Given the description of an element on the screen output the (x, y) to click on. 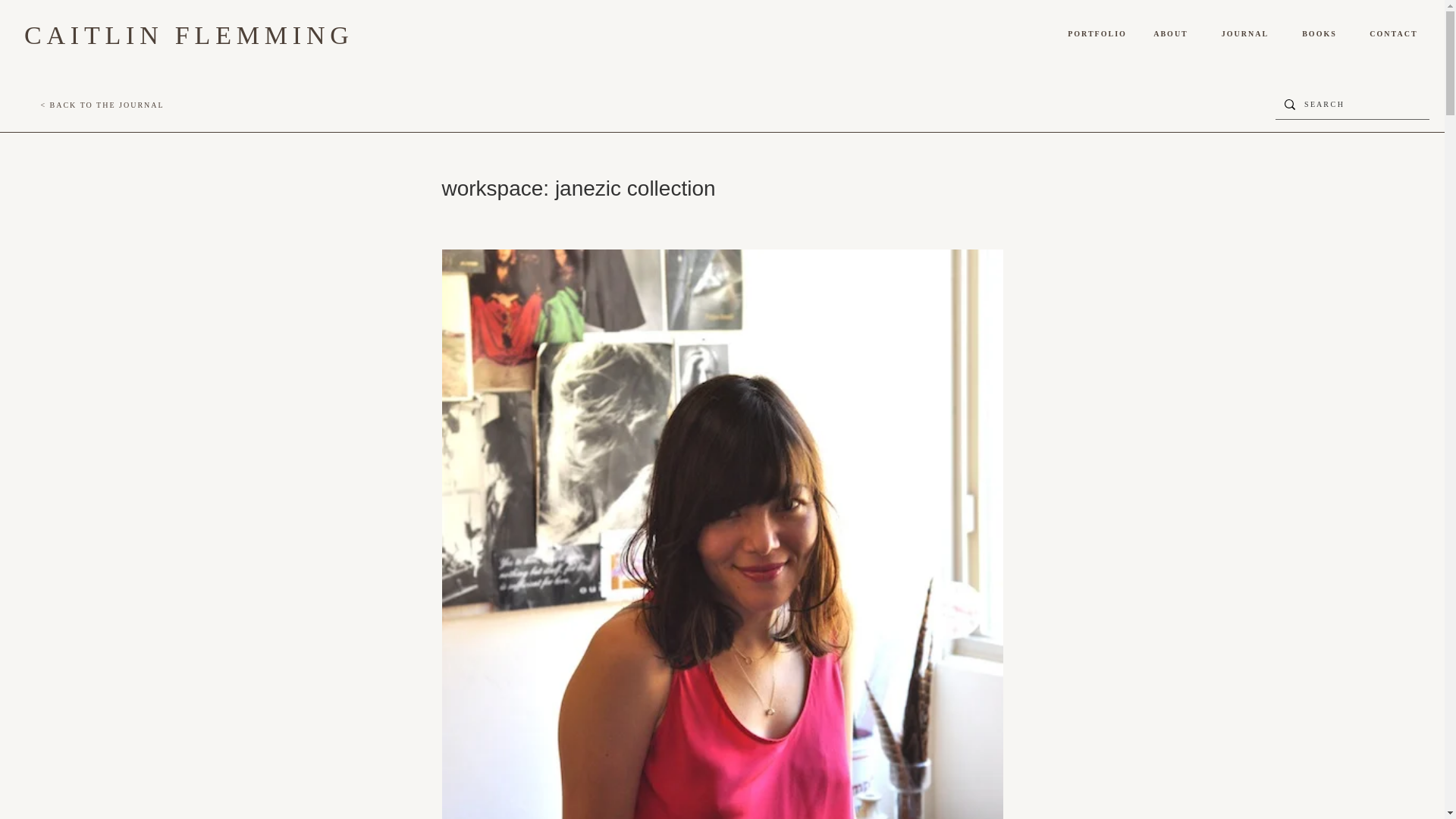
PORTFOLIO (1096, 33)
CONTACT (1393, 33)
JOURNAL (1245, 33)
ABOUT (1171, 33)
CAITLIN FLEMMING (188, 35)
BOOKS (1319, 33)
